Given the description of an element on the screen output the (x, y) to click on. 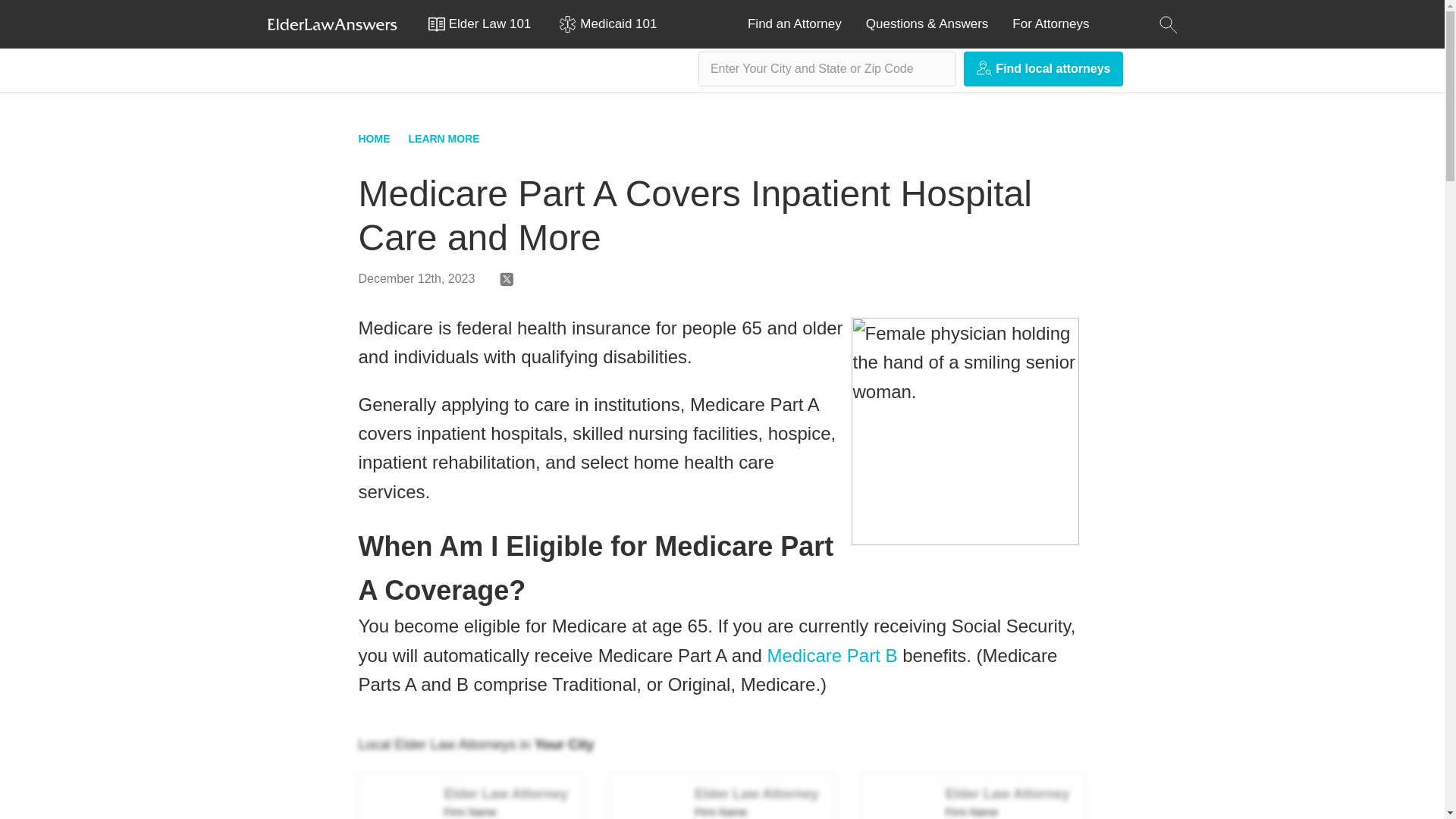
Find local attorneys (1042, 68)
For Attorneys (1050, 24)
Find an Attorney (794, 24)
Elder Law Answers (331, 24)
Medicaid 101 (615, 24)
Elder Law Attorney (505, 793)
Tweet This (507, 281)
LEARN MORE (443, 138)
Medicare Part B (831, 655)
Elder Law Attorney (1006, 793)
HOME (374, 138)
Elder Law 101 (487, 24)
Elder Law Attorney (756, 793)
